Given the description of an element on the screen output the (x, y) to click on. 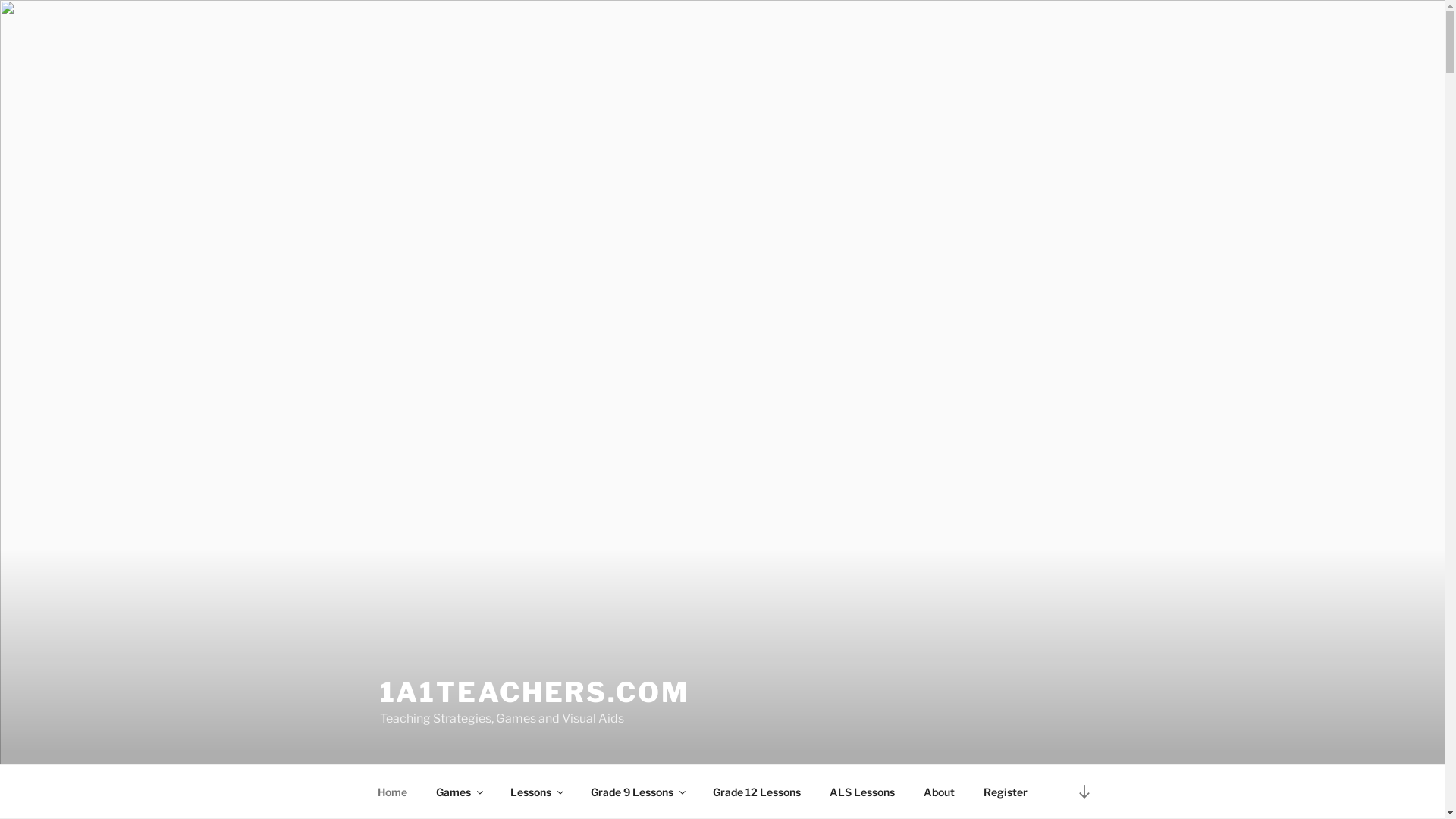
Register Element type: text (1005, 791)
Grade 9 Lessons Element type: text (637, 791)
1A1TEACHERS.COM Element type: text (534, 692)
Lessons Element type: text (536, 791)
Home Element type: text (392, 791)
About Element type: text (938, 791)
ALS Lessons Element type: text (861, 791)
Scroll down to content Element type: text (1083, 790)
Grade 12 Lessons Element type: text (756, 791)
Games Element type: text (459, 791)
